Given the description of an element on the screen output the (x, y) to click on. 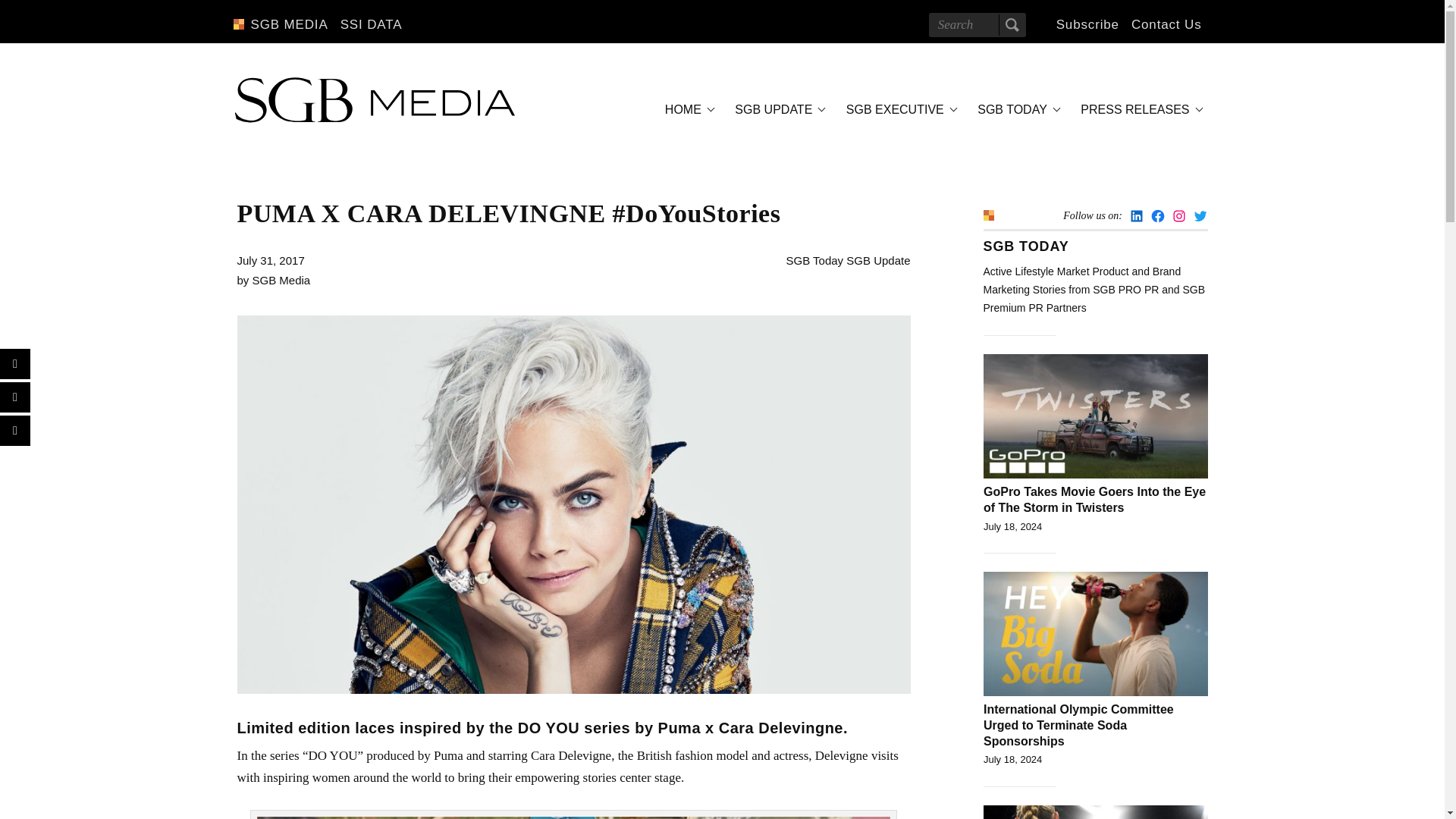
SSI DATA (371, 24)
SGB MEDIA (288, 24)
Search for: (977, 24)
SGB Update (877, 259)
Subscribe (1087, 24)
Contact Us (1166, 24)
SGB TODAY (1016, 109)
SGB Media (281, 279)
SGB Today (814, 259)
PRESS RELEASES (1139, 109)
SGB UPDATE (777, 109)
HOME (687, 109)
SGB EXECUTIVE (899, 109)
Posts by SGB Media (281, 279)
